Given the description of an element on the screen output the (x, y) to click on. 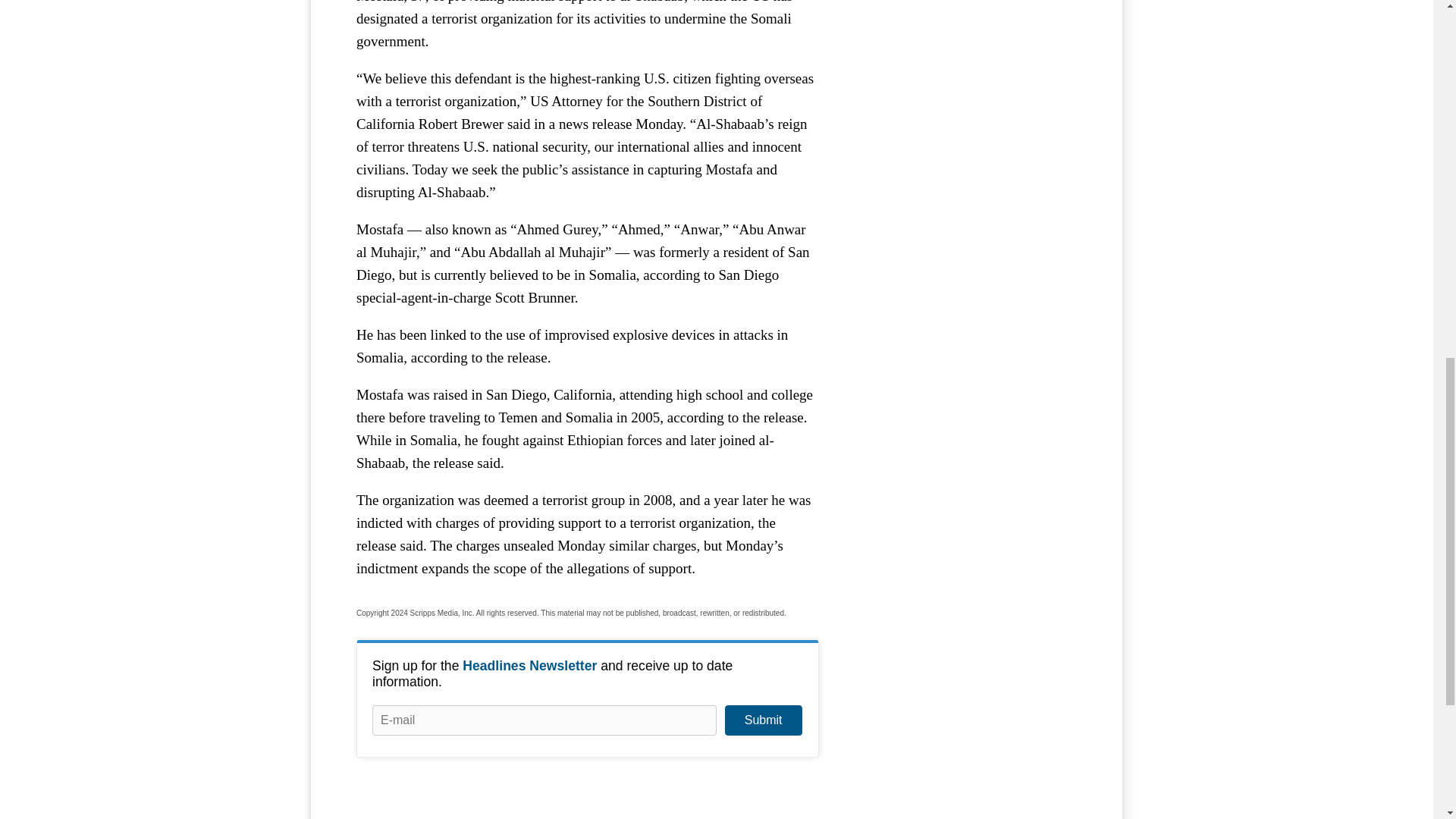
Submit (763, 720)
